Given the description of an element on the screen output the (x, y) to click on. 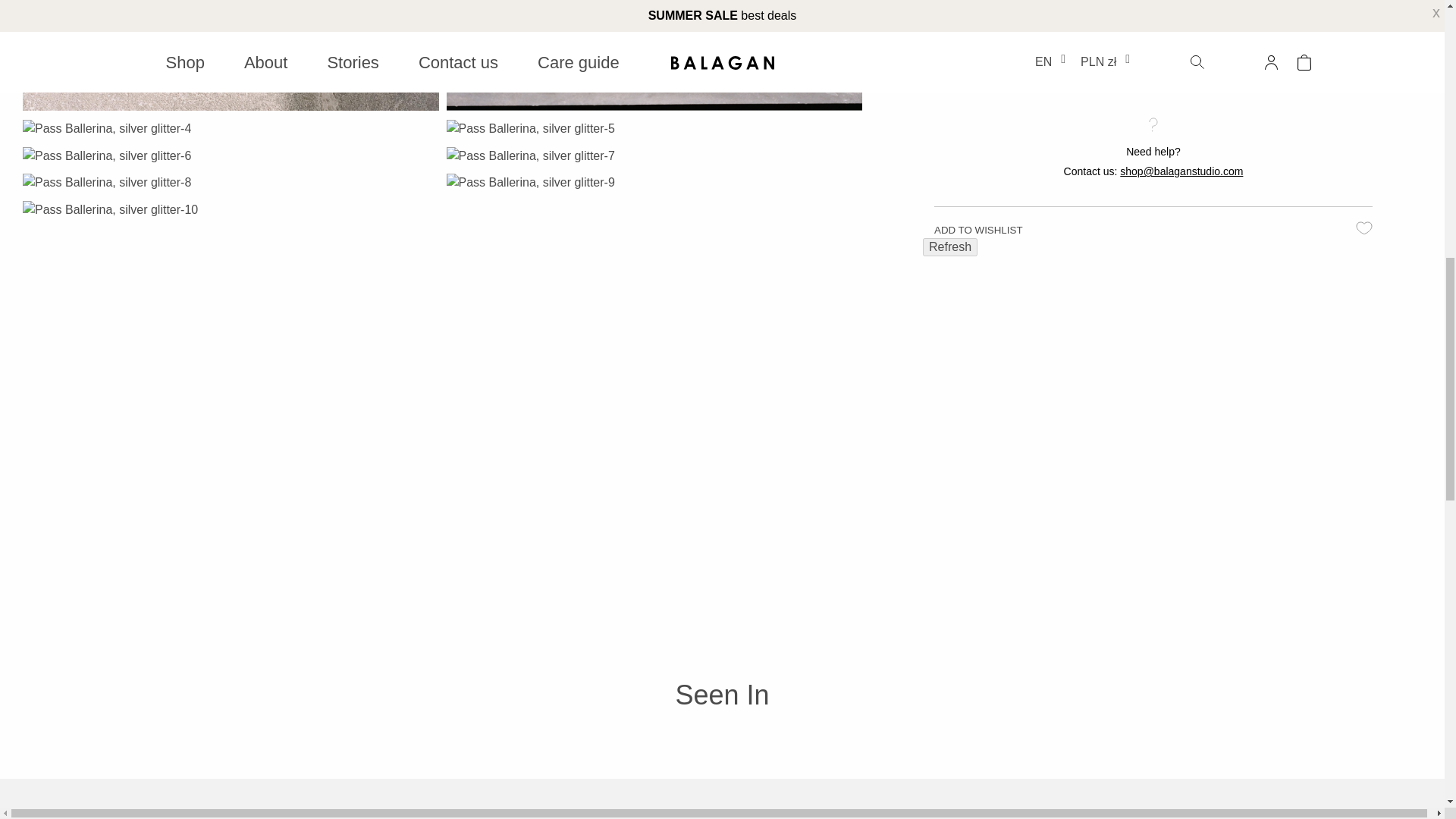
 Pass Ballerina, silver glitter-6  (106, 156)
Refresh (949, 247)
 Pass Ballerina, silver glitter-7  (529, 156)
 Pass Ballerina, silver glitter-3  (653, 55)
 Pass Ballerina, silver glitter-9  (529, 182)
 Pass Ballerina, silver glitter-5  (529, 128)
 Pass Ballerina, silver glitter-10  (110, 209)
 Pass Ballerina, silver glitter-8  (106, 182)
 Pass Ballerina, silver glitter-4  (106, 128)
 Pass Ballerina, silver glitter-2  (231, 55)
